Given the description of an element on the screen output the (x, y) to click on. 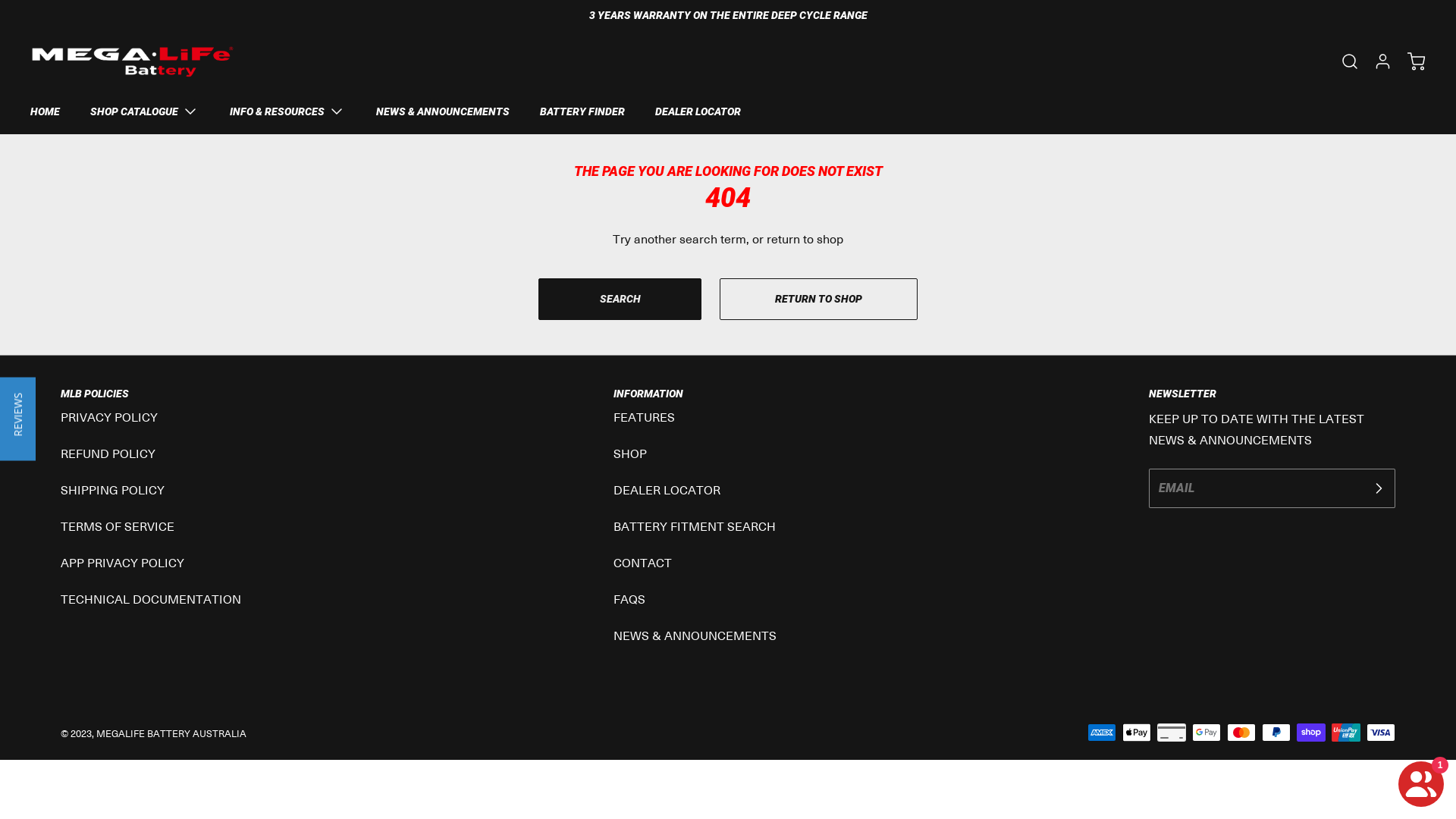
RETURN TO SHOP Element type: text (818, 299)
APP PRIVACY POLICY Element type: text (122, 562)
SEARCH Element type: text (619, 299)
BATTERY FITMENT SEARCH Element type: text (694, 525)
FAQS Element type: text (629, 598)
MEGALIFE BATTERY AUSTRALIA Element type: text (171, 732)
SHIPPING POLICY Element type: text (112, 489)
CHECK OUT THE LATEST NEWS & ANNOUNCEMENTS Element type: text (728, 15)
FEATURES Element type: text (643, 416)
NEWS & ANNOUNCEMENTS Element type: text (442, 111)
DEALER LOCATOR Element type: text (666, 489)
NEWS & ANNOUNCEMENTS Element type: text (694, 635)
TECHNICAL DOCUMENTATION Element type: text (150, 598)
REFUND POLICY Element type: text (107, 453)
SHOP Element type: text (629, 453)
BATTERY FINDER Element type: text (581, 111)
PRIVACY POLICY Element type: text (108, 416)
TERMS OF SERVICE Element type: text (117, 525)
Shopify online store chat Element type: hover (1420, 780)
DEALER LOCATOR Element type: text (697, 111)
CONTACT Element type: text (642, 562)
HOME Element type: text (44, 111)
